Given the description of an element on the screen output the (x, y) to click on. 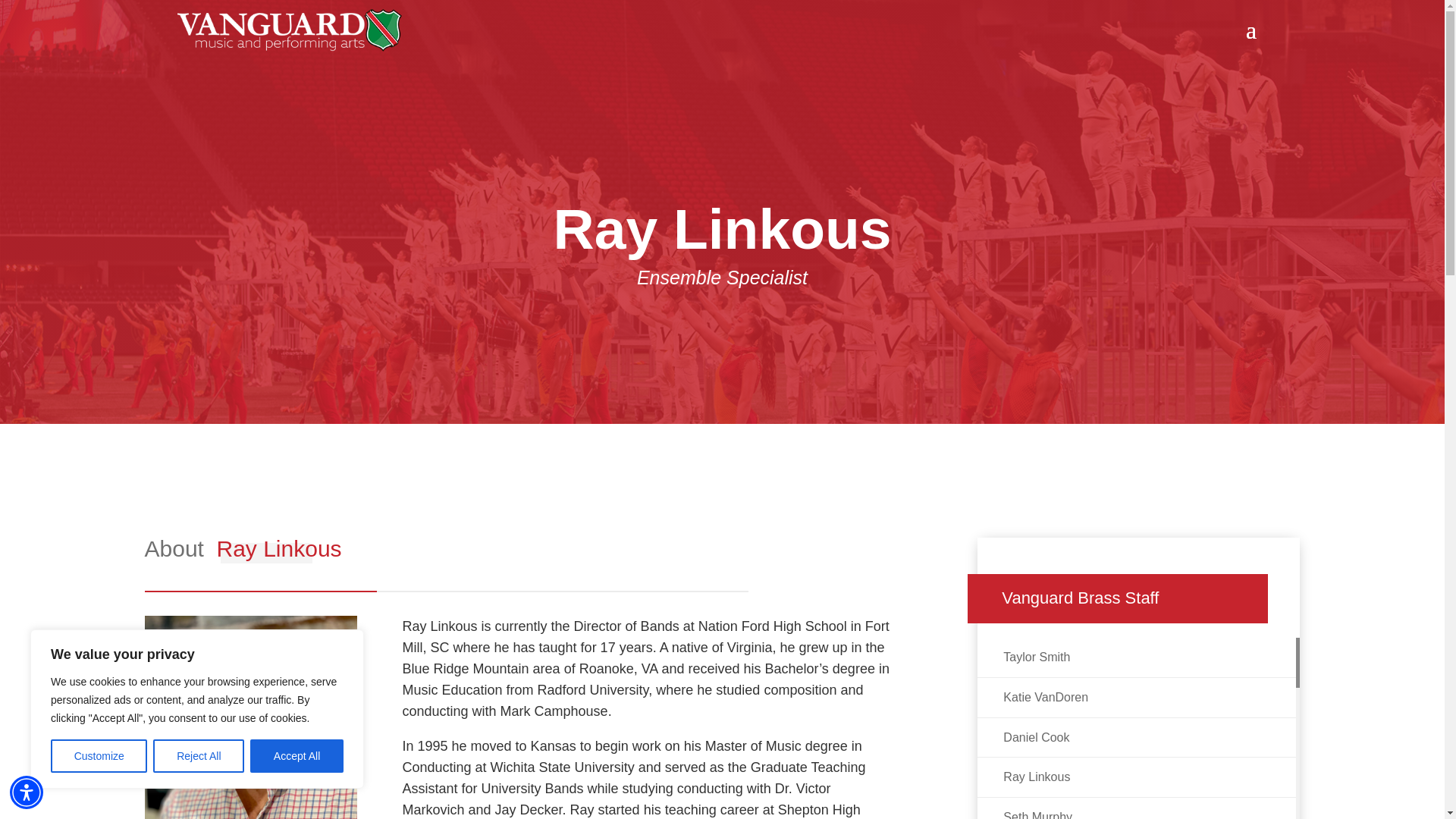
Reject All (198, 756)
Ray-Linkous (250, 717)
Accept All (296, 756)
Customize (98, 756)
Accessibility Menu (26, 792)
